Given the description of an element on the screen output the (x, y) to click on. 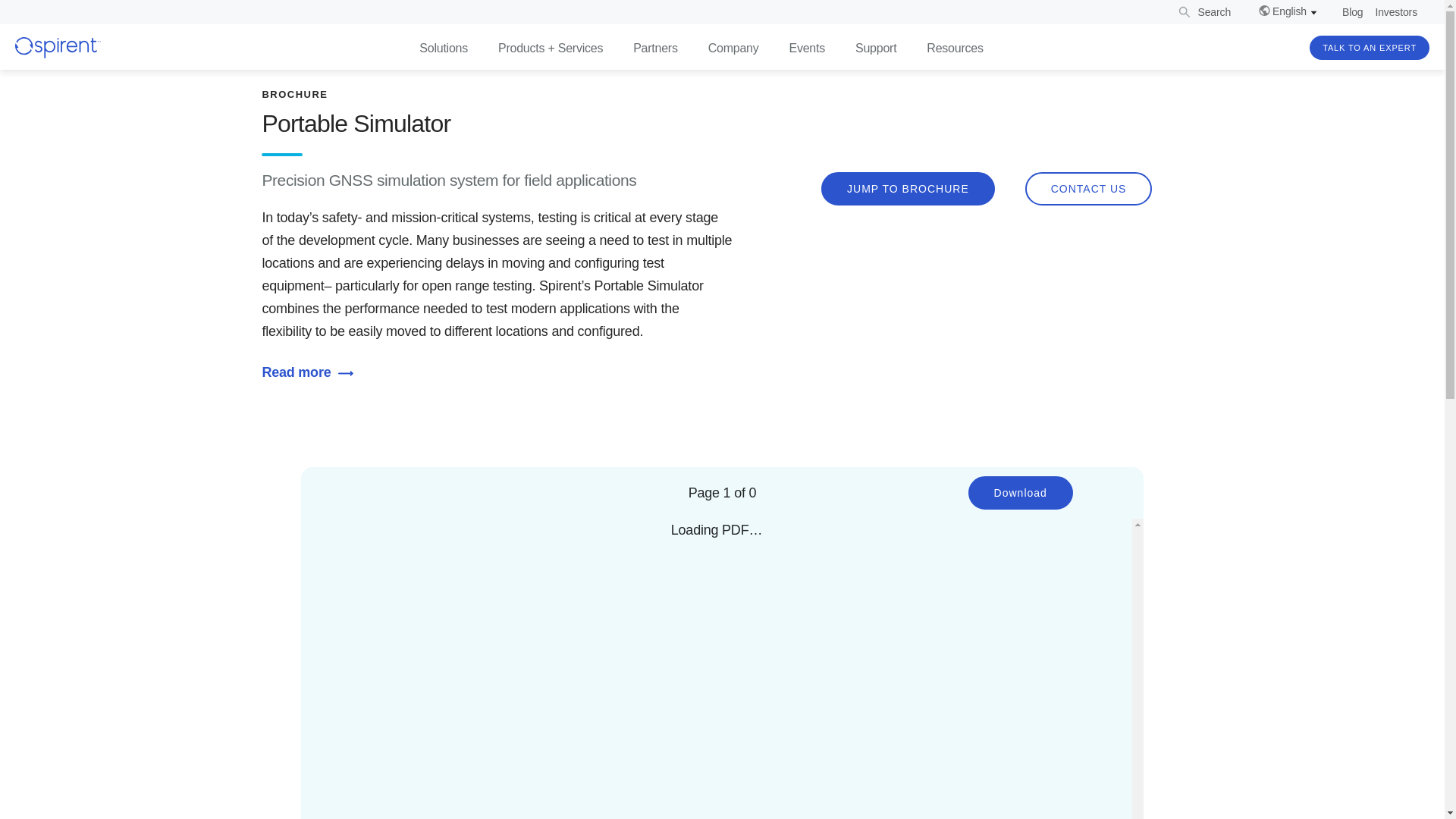
Download (1020, 492)
Read more (311, 372)
English (1288, 11)
TALK TO AN EXPERT (1368, 46)
Events (807, 47)
Resources (954, 47)
Partners (655, 47)
Search (1202, 12)
Blog (1346, 11)
JUMP TO BROCHURE (907, 188)
